Given the description of an element on the screen output the (x, y) to click on. 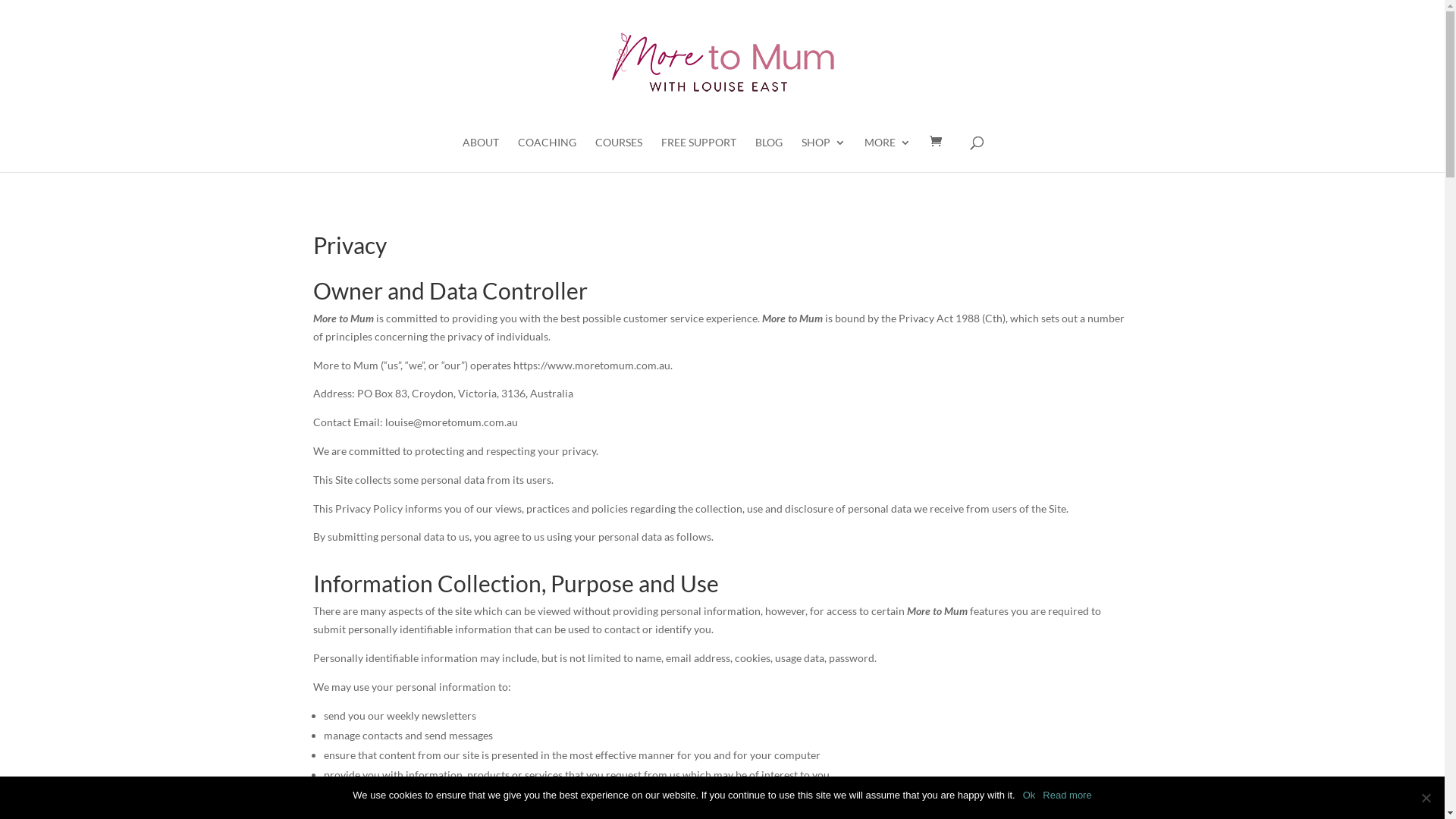
Read more Element type: text (1066, 795)
COURSES Element type: text (618, 154)
FREE SUPPORT Element type: text (698, 154)
MORE Element type: text (887, 154)
COACHING Element type: text (546, 154)
BLOG Element type: text (768, 154)
Ok Element type: text (1028, 795)
No Element type: hover (1425, 797)
ABOUT Element type: text (480, 154)
SHOP Element type: text (823, 154)
